Given the description of an element on the screen output the (x, y) to click on. 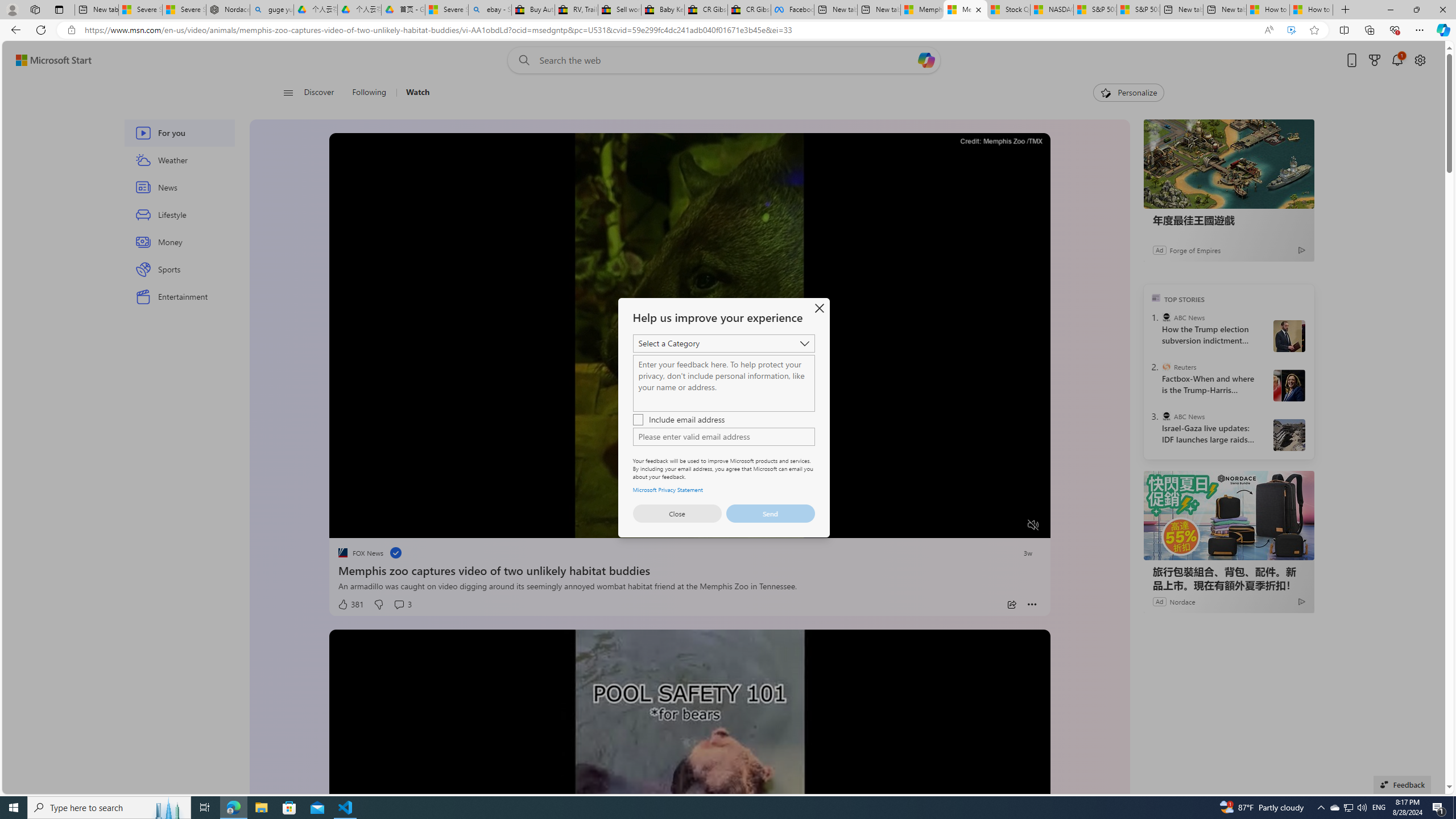
Seek Back (368, 525)
reportdialog-select (723, 343)
Memphis zoo captures video of two unlikely habitat buddies (689, 568)
Forge of Empires (1194, 249)
